Given the description of an element on the screen output the (x, y) to click on. 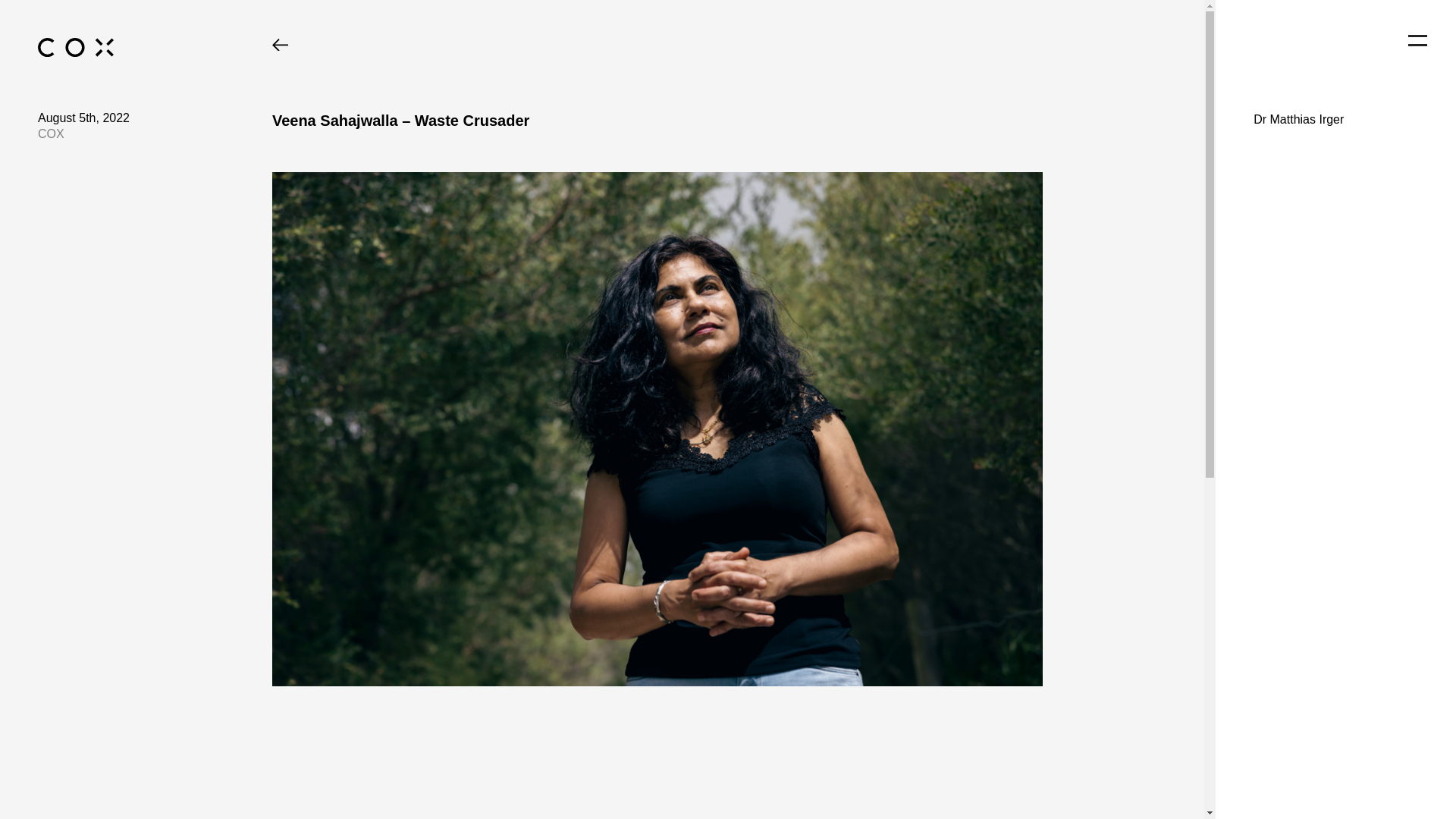
Dr Matthias Irger (1335, 119)
